Given the description of an element on the screen output the (x, y) to click on. 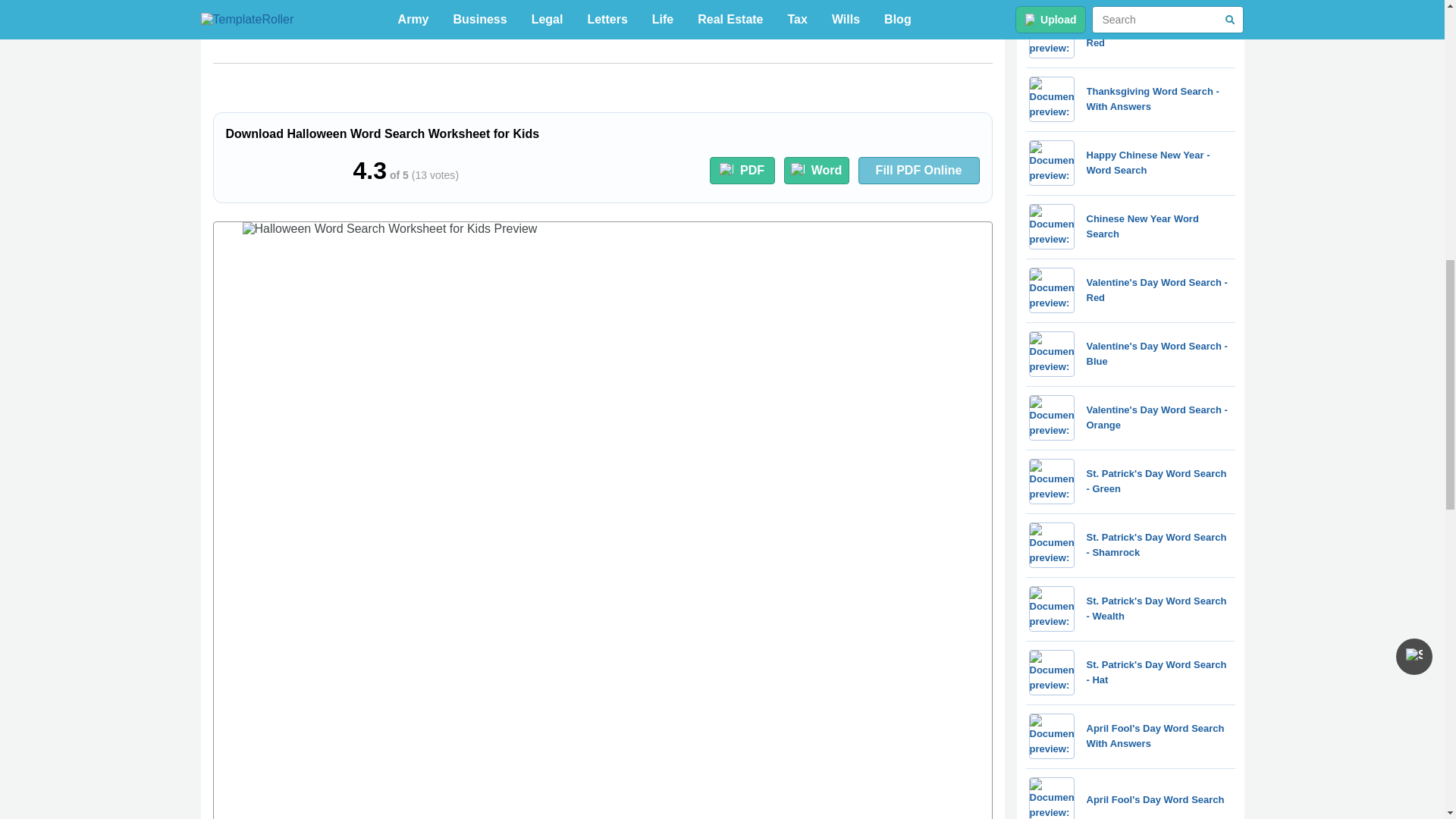
Word (816, 170)
PDF (742, 170)
Fill PDF Online (919, 170)
